Given the description of an element on the screen output the (x, y) to click on. 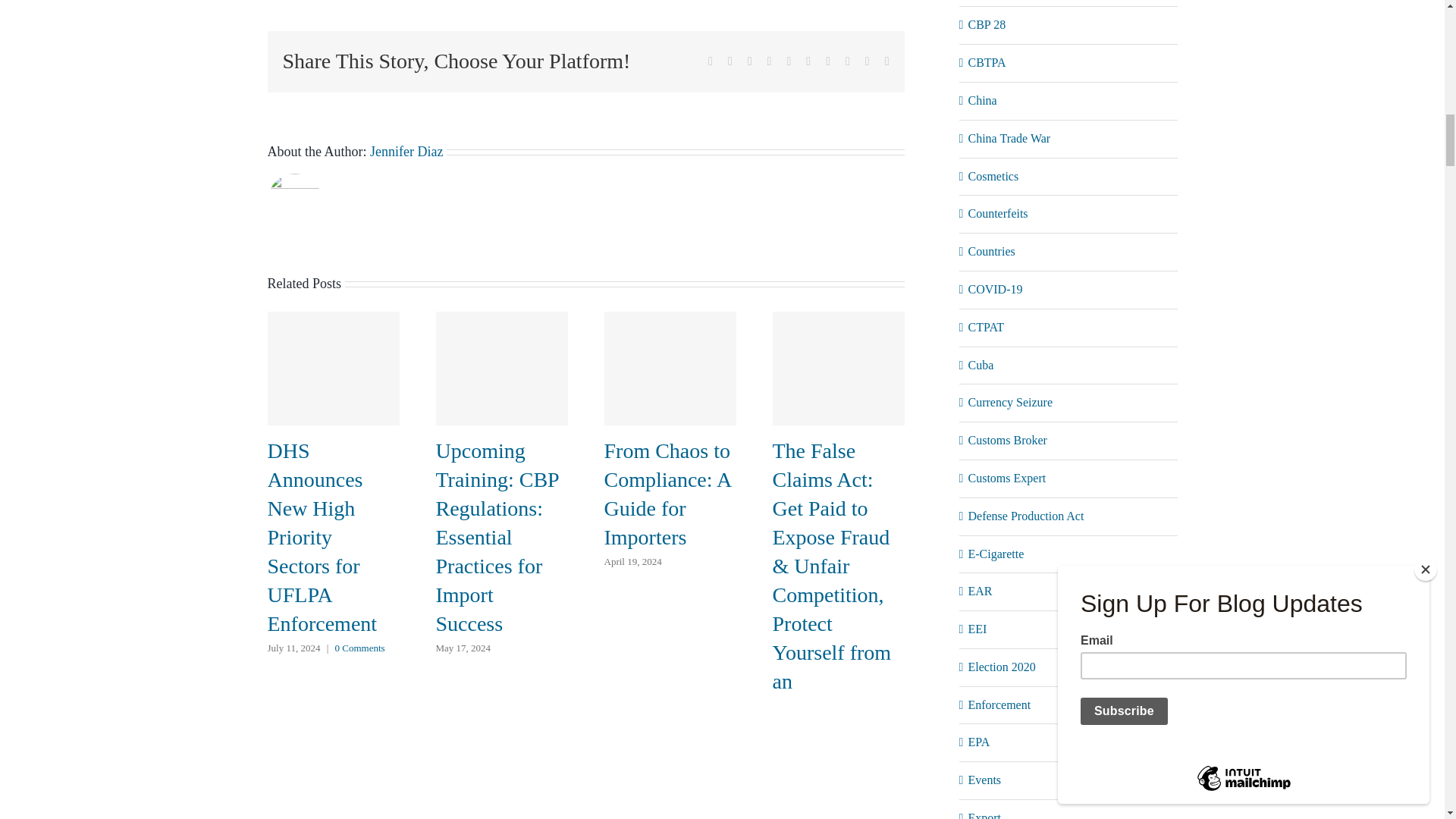
LinkedIn (769, 61)
Tumblr (808, 61)
Reddit (750, 61)
WhatsApp (788, 61)
Pinterest (827, 61)
Facebook (710, 61)
Twitter (730, 61)
